Given the description of an element on the screen output the (x, y) to click on. 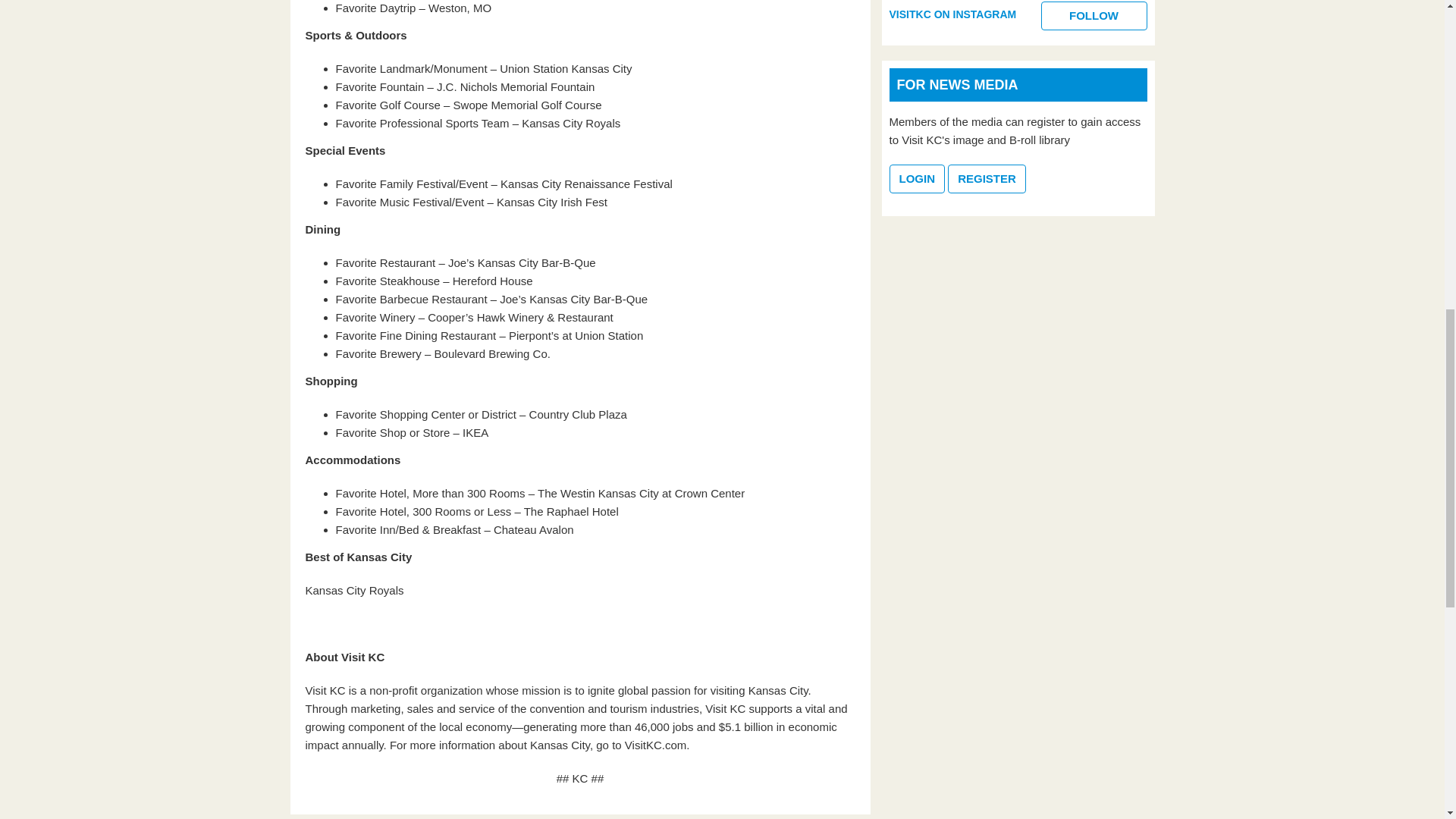
VISITKC ON INSTAGRAM (952, 14)
LOGIN (916, 178)
FOLLOW (1094, 15)
REGISTER (986, 178)
